Given the description of an element on the screen output the (x, y) to click on. 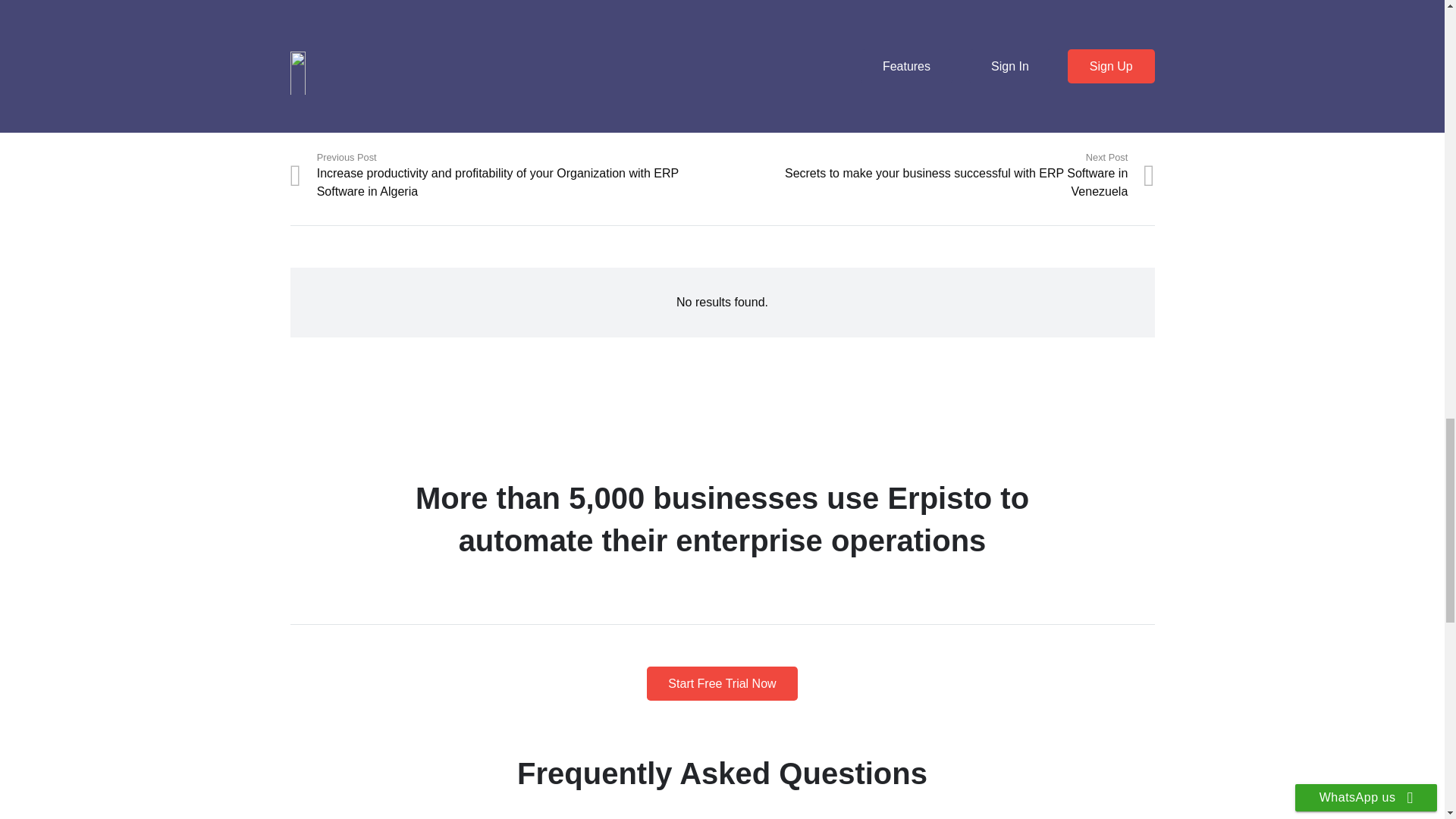
Share this (501, 99)
Share this (347, 99)
Tweet this (386, 99)
Email this (307, 99)
Share this (424, 99)
Pin this (463, 99)
